Given the description of an element on the screen output the (x, y) to click on. 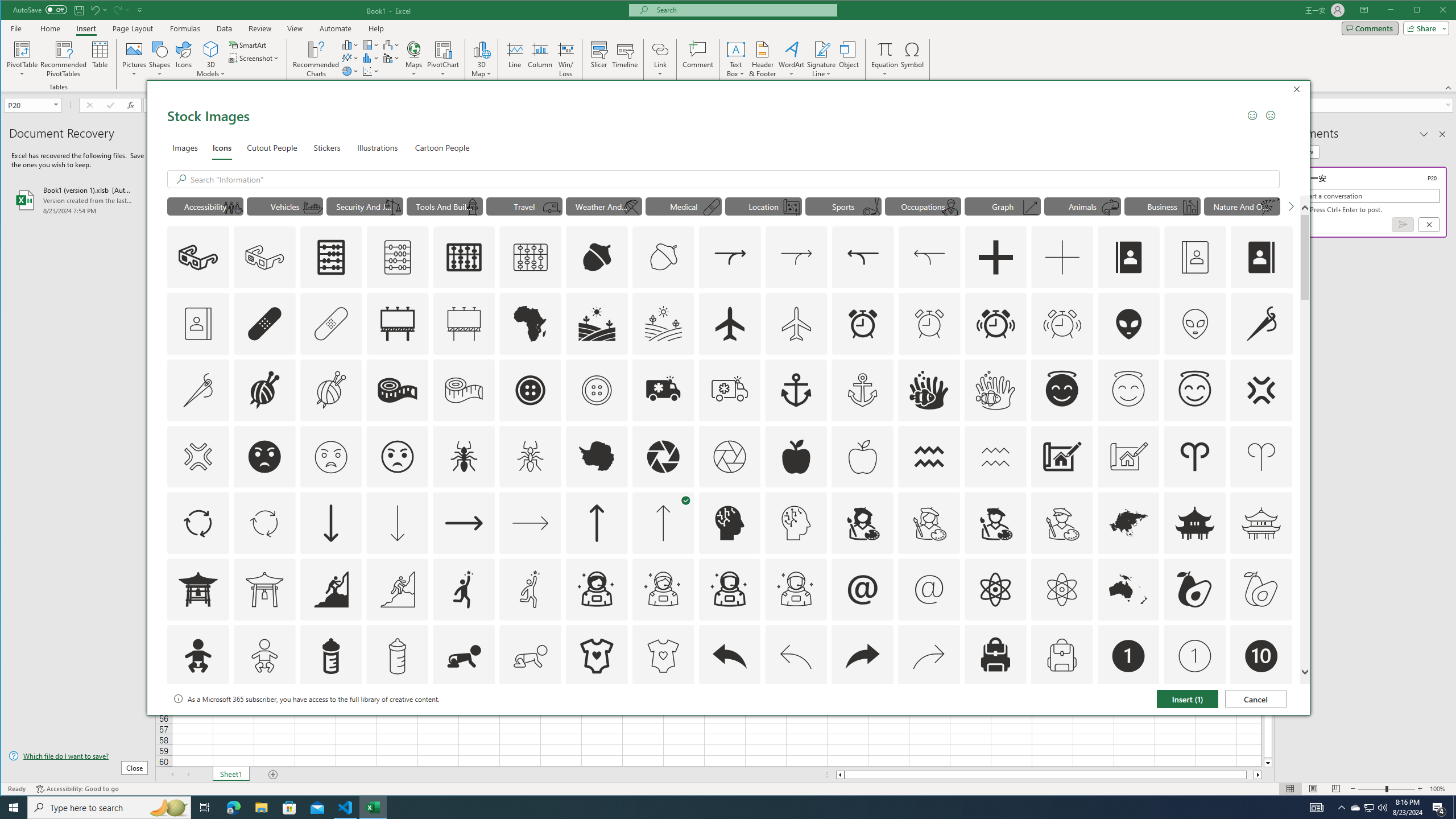
AutomationID: Icons_ArrowUp_M (663, 522)
Start (13, 807)
AutomationID: Icons_Aperture (663, 456)
AutomationID: Icons_ArrowDown (330, 522)
File Explorer (261, 807)
